Given the description of an element on the screen output the (x, y) to click on. 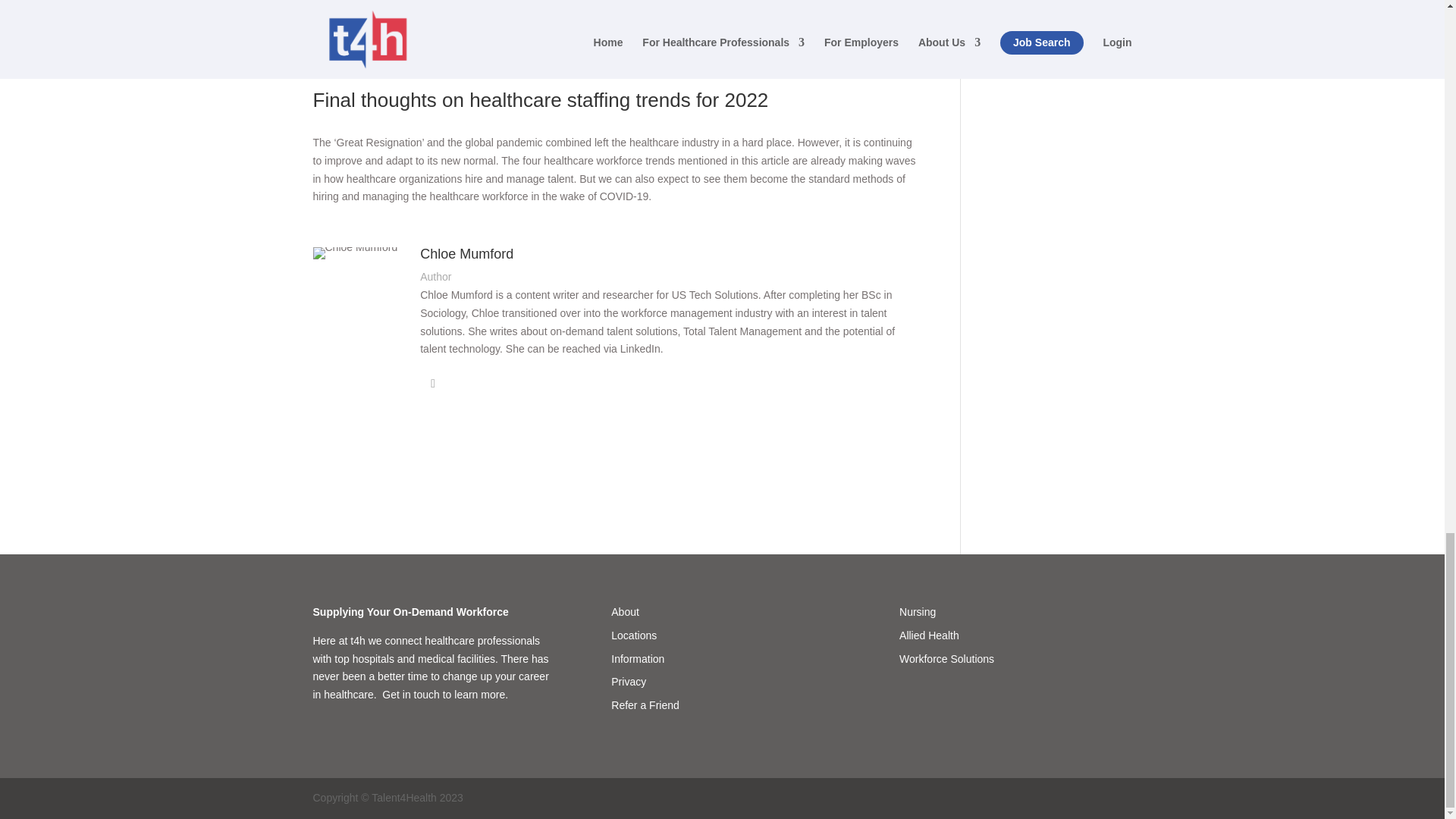
Information (637, 658)
Locations (633, 635)
About (625, 612)
Privacy (628, 681)
Refer a Friend (644, 705)
Nursing (917, 612)
Allied Health (929, 635)
Workforce Solutions (946, 658)
